Given the description of an element on the screen output the (x, y) to click on. 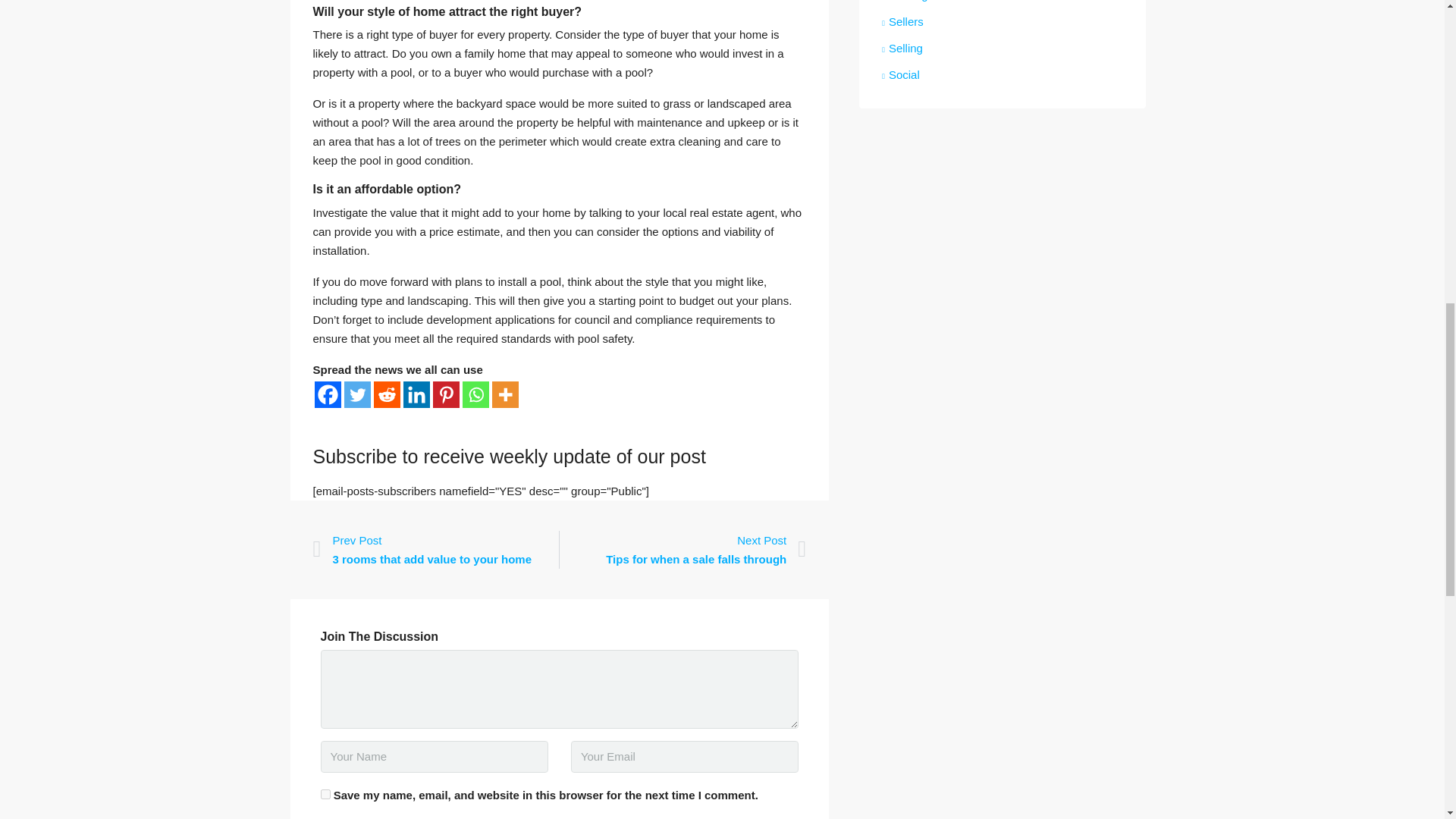
More (505, 394)
Pinterest (445, 394)
yes (325, 794)
Whatsapp (476, 394)
Linkedin (416, 394)
Facebook (327, 394)
Reddit (385, 394)
Twitter (357, 394)
